Given the description of an element on the screen output the (x, y) to click on. 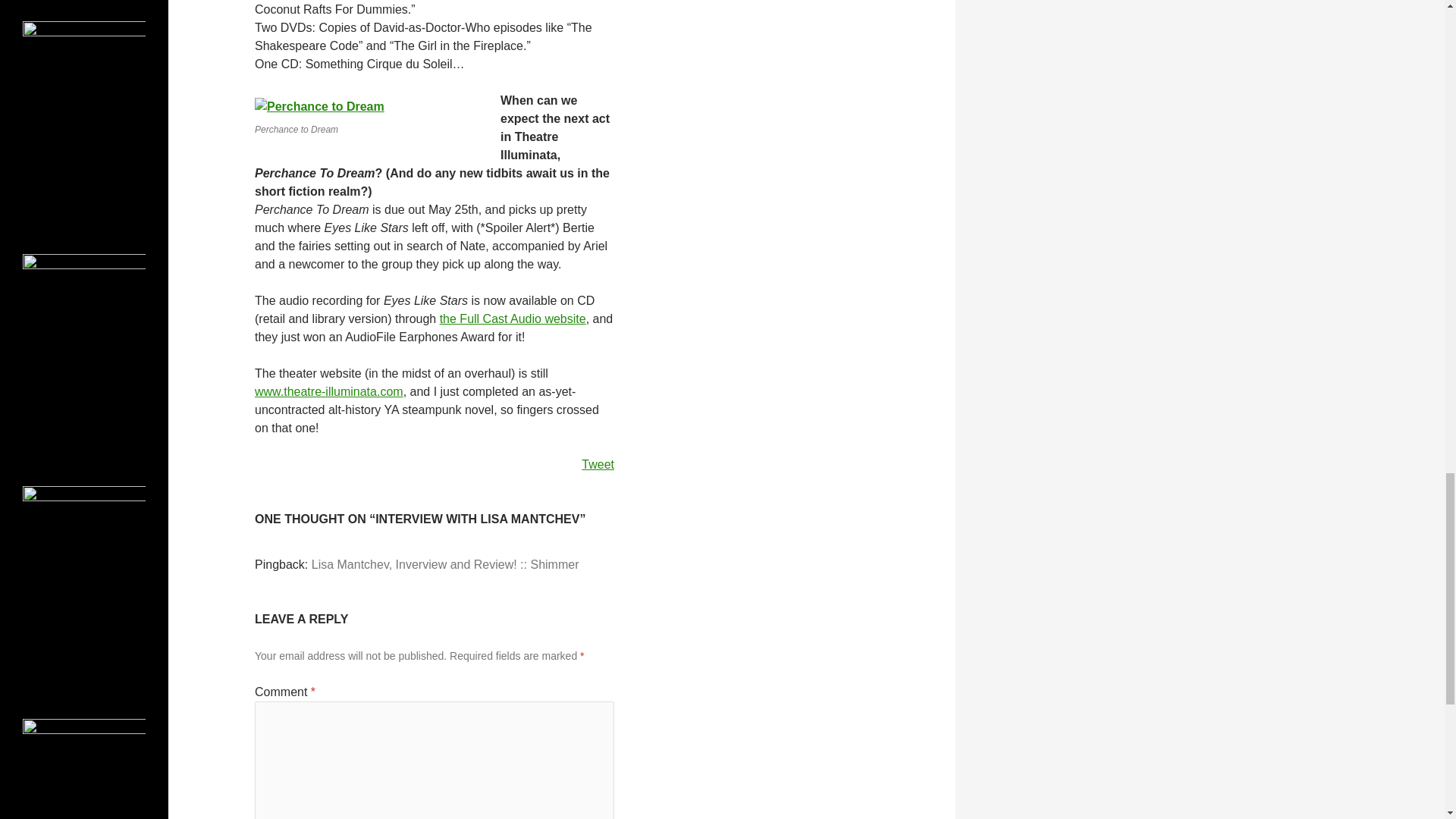
Perchance to Dream (319, 106)
the Full Cast Audio website (512, 318)
Tweet (597, 463)
www.theatre-illuminata.com (328, 391)
Lisa Mantchev, Inverview and Review! :: Shimmer (445, 563)
